Given the description of an element on the screen output the (x, y) to click on. 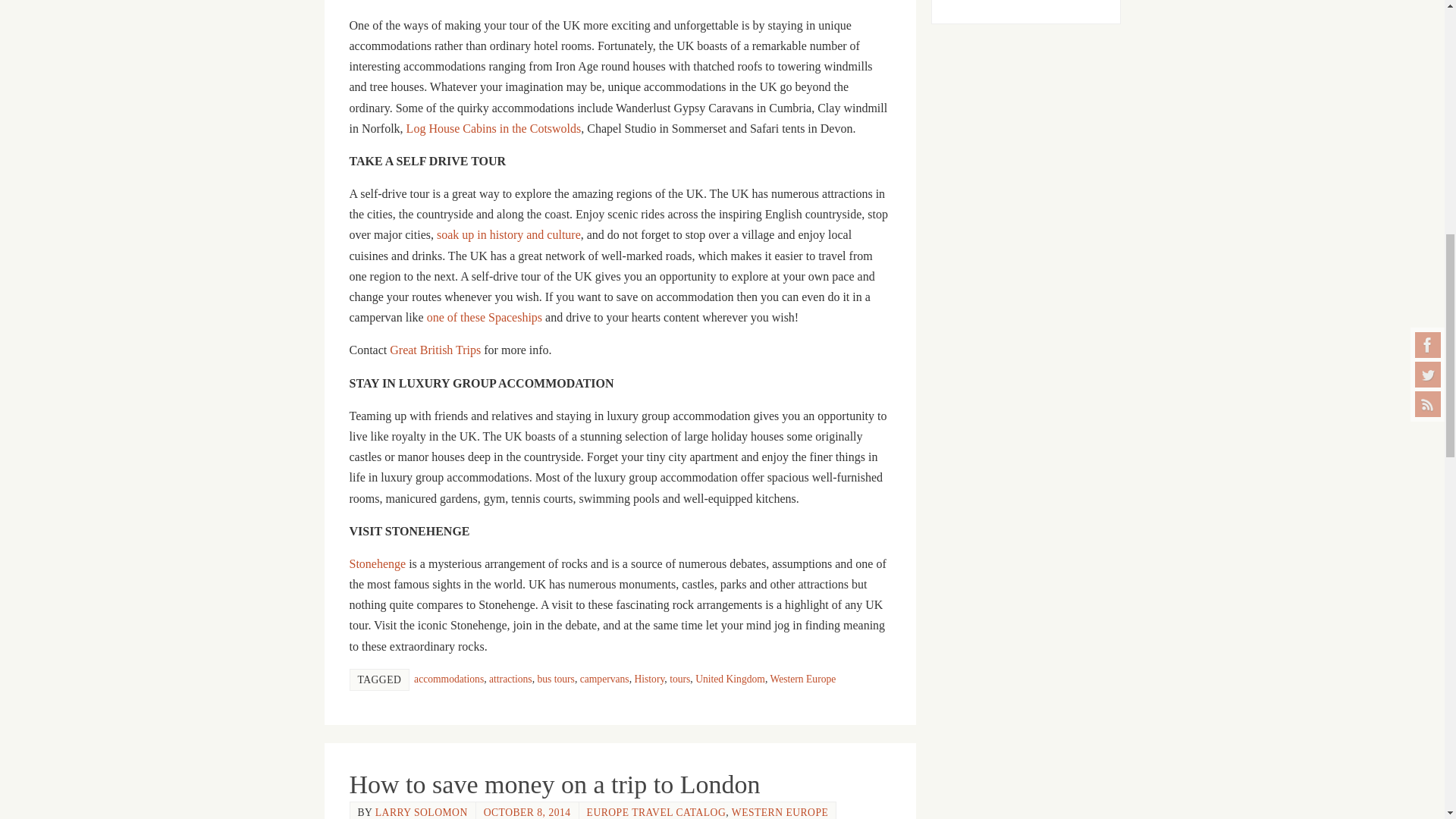
Permalink to How to save money on a trip to London (554, 784)
EUROPE TRAVEL CATALOG (656, 812)
LARRY SOLOMON (421, 812)
OCTOBER 8, 2014 (526, 812)
Great British Trips (435, 349)
The 411 on Stonehenge (377, 563)
Tour the UK properly with trained and fabulous tour guides (435, 349)
soak up in history and culture (508, 234)
View all posts by Larry Solomon (421, 812)
attractions (510, 678)
Stonehenge (377, 563)
bus tours (555, 678)
History (648, 678)
campervans for hire in the UK (483, 317)
United Kingdom (730, 678)
